Given the description of an element on the screen output the (x, y) to click on. 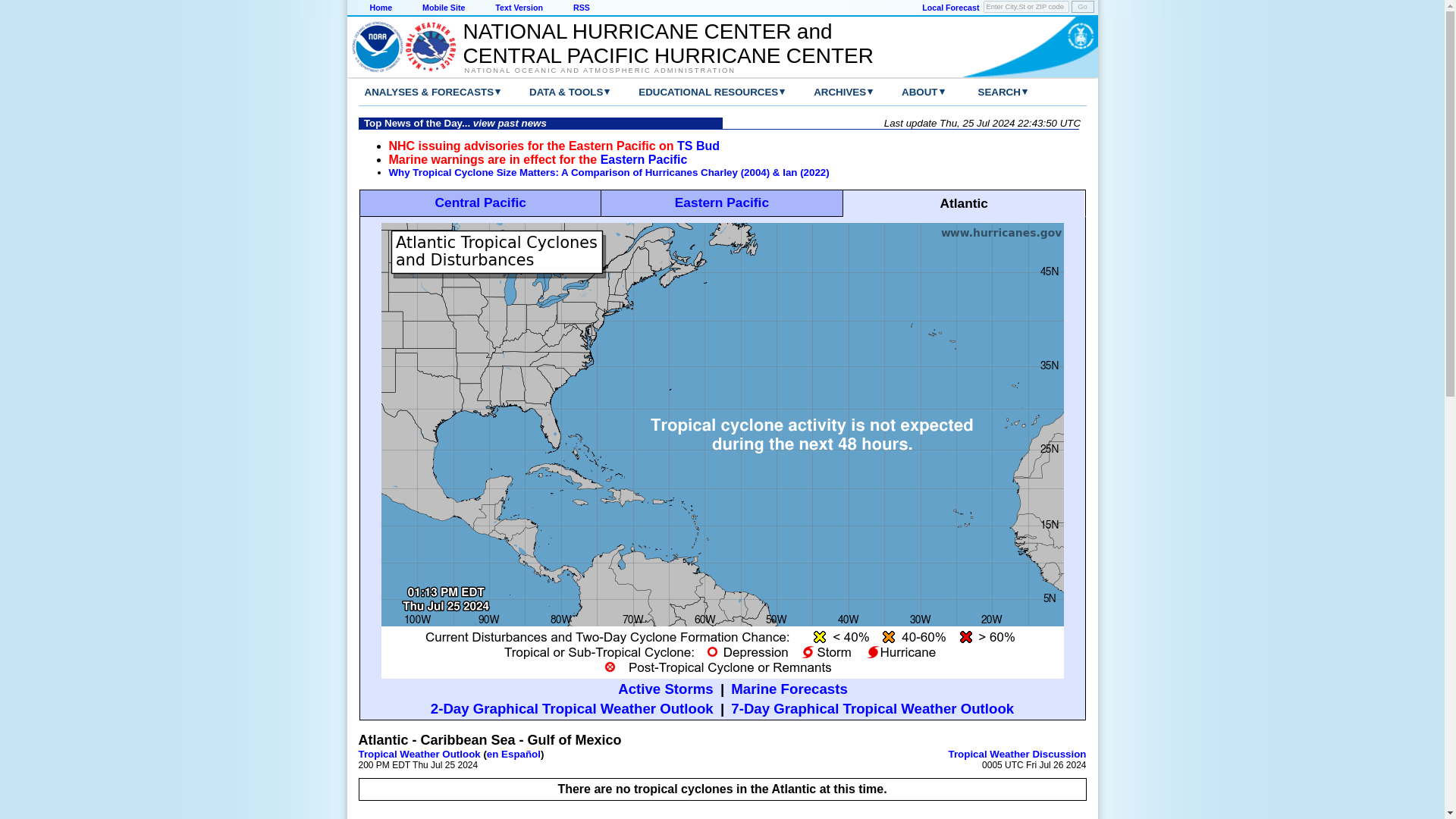
NATIONAL OCEANIC AND ATMOSPHERIC ADMINISTRATION (659, 70)
Home (381, 7)
Enter City,St or ZIP code (1026, 6)
Mobile Site (443, 7)
Go (1081, 6)
Local Forecast (949, 7)
Go (1081, 6)
Text Version (519, 7)
EDUCATIONAL RESOURCES (696, 91)
RSS (581, 7)
